Given the description of an element on the screen output the (x, y) to click on. 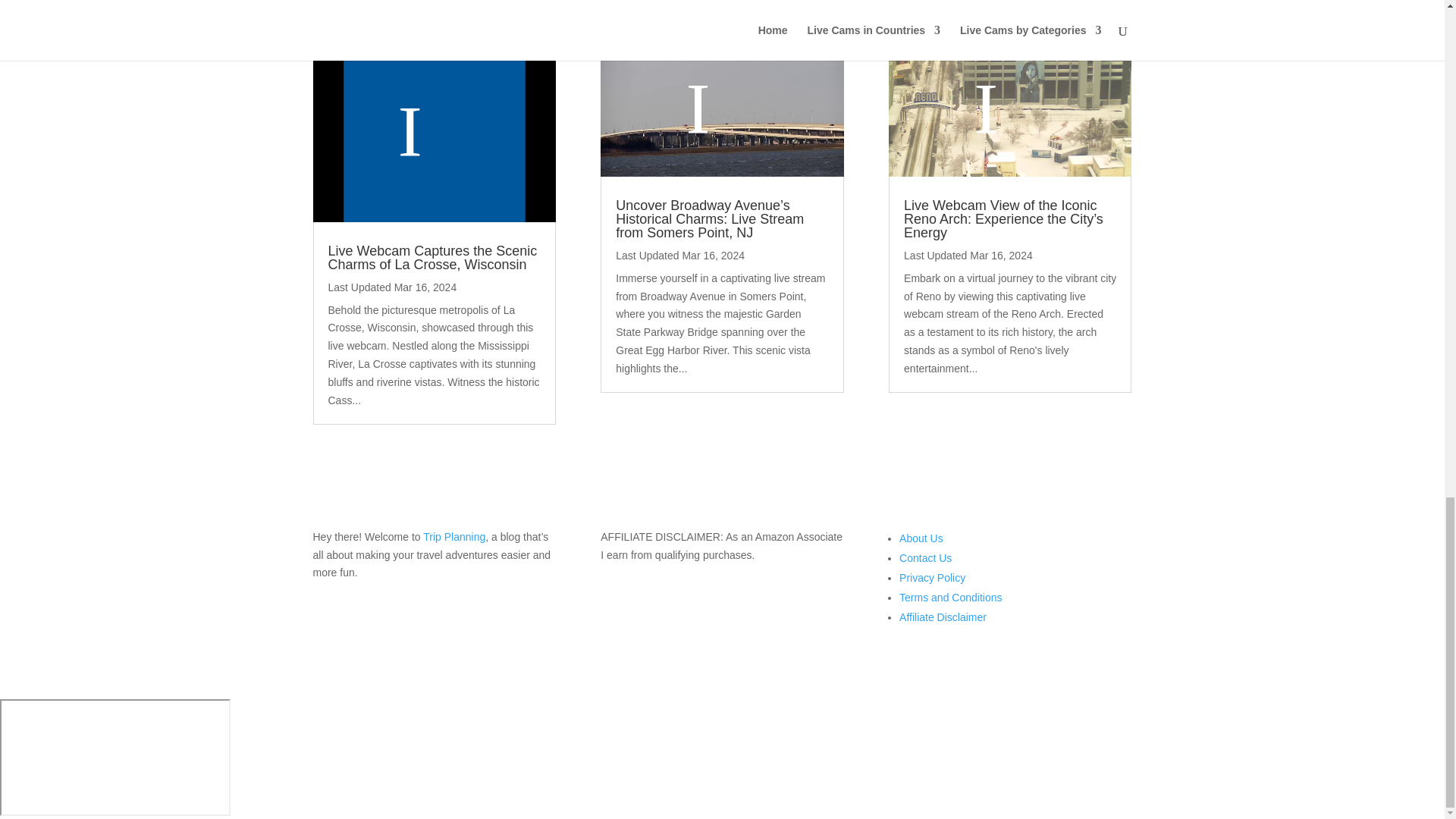
News 8 Now City Cam Live Stream (433, 130)
Gardens State Parkway Bridge over the Egg Harbor River (721, 108)
